Given the description of an element on the screen output the (x, y) to click on. 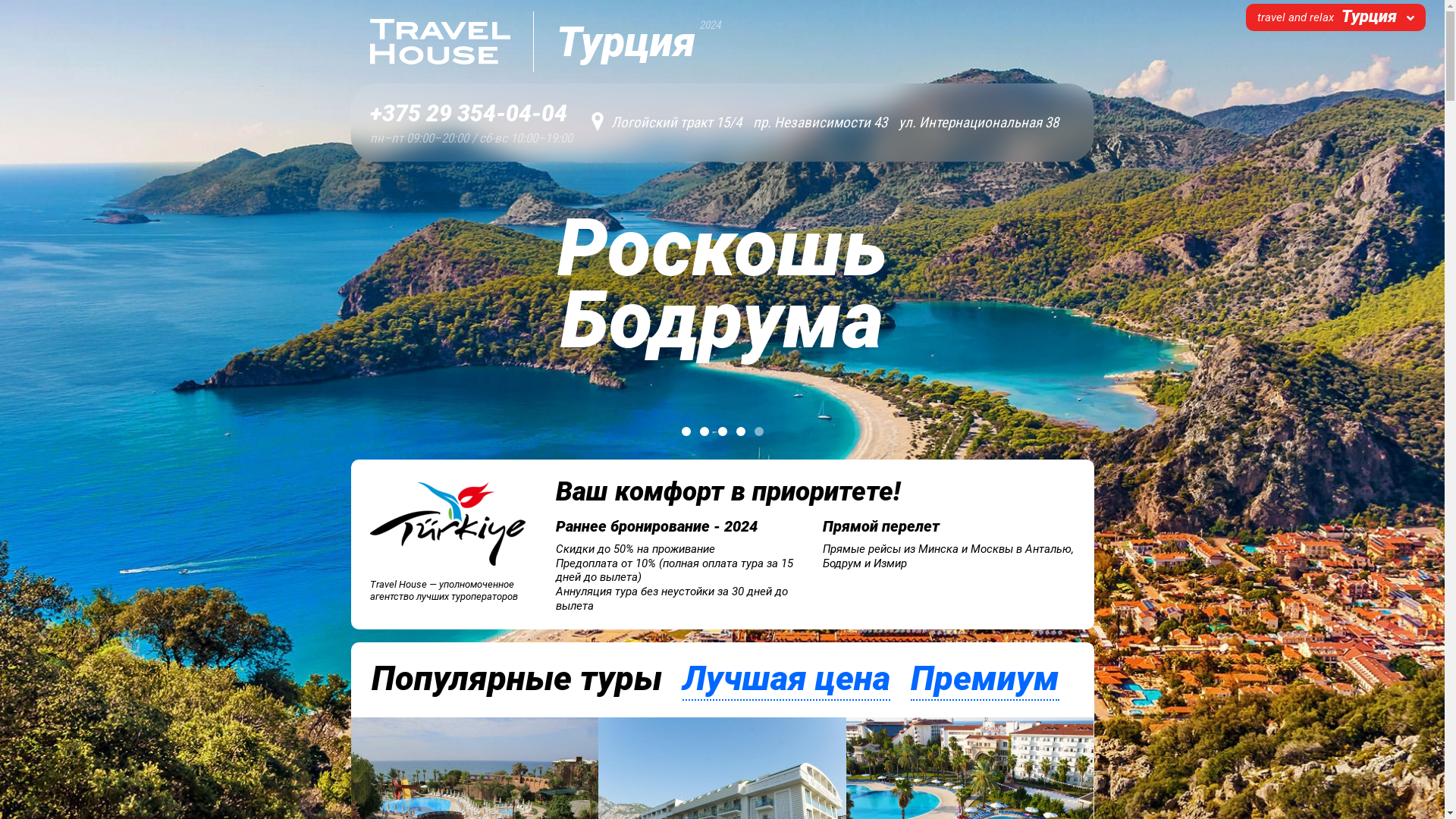
+375 29 354-04-04 Element type: text (471, 113)
Travel House Element type: text (441, 41)
